Given the description of an element on the screen output the (x, y) to click on. 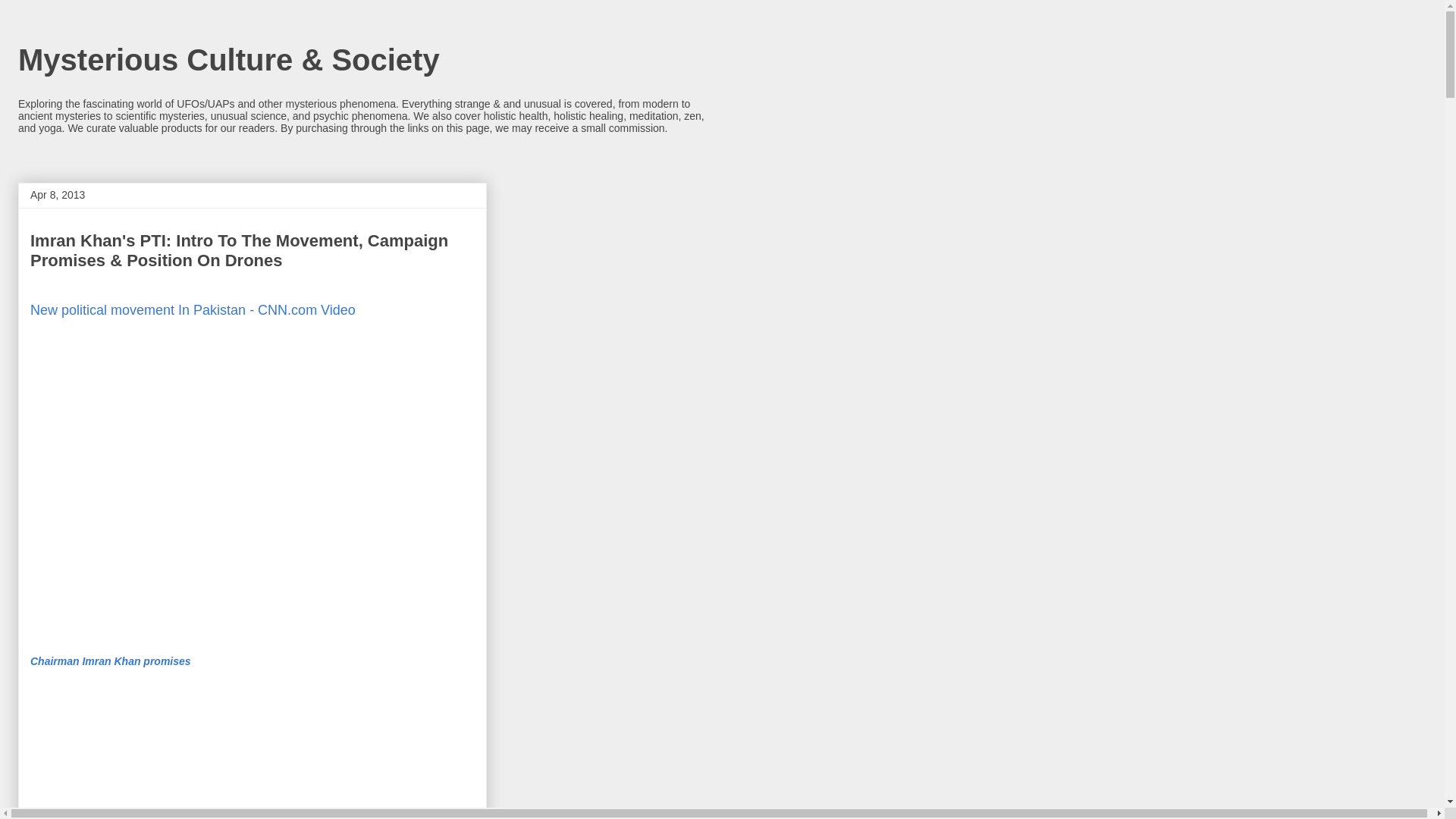
New political movement In Pakistan - CNN.com Video (192, 309)
Chairman Imran Khan promises (110, 661)
